Given the description of an element on the screen output the (x, y) to click on. 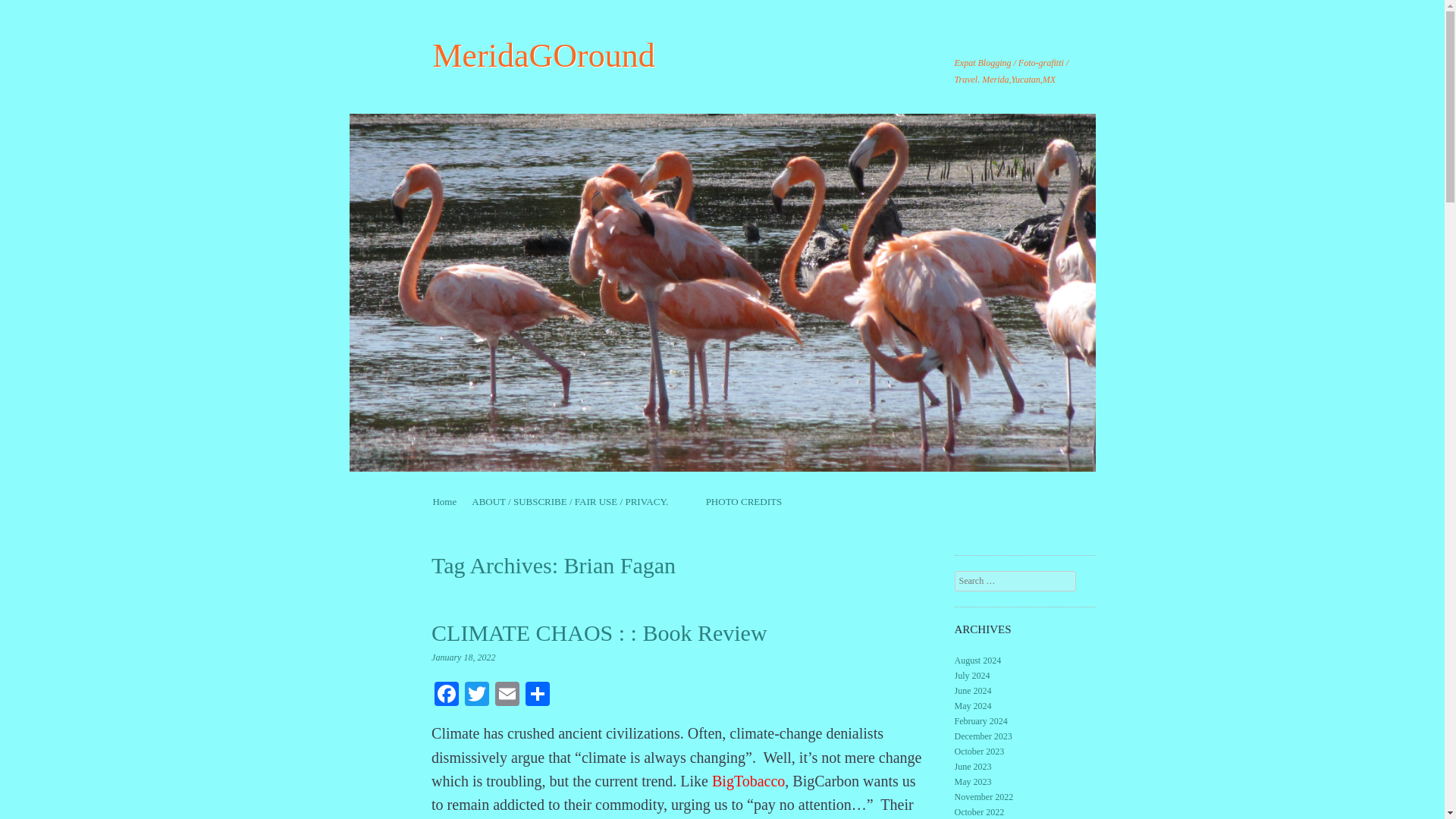
Skip to content (462, 501)
June 2023 (973, 766)
Email (507, 695)
October 2023 (979, 751)
Search (32, 11)
October 2022 (979, 811)
November 2022 (984, 796)
May 2023 (973, 781)
MeridaGOround (542, 55)
Skip to content (462, 501)
